Given the description of an element on the screen output the (x, y) to click on. 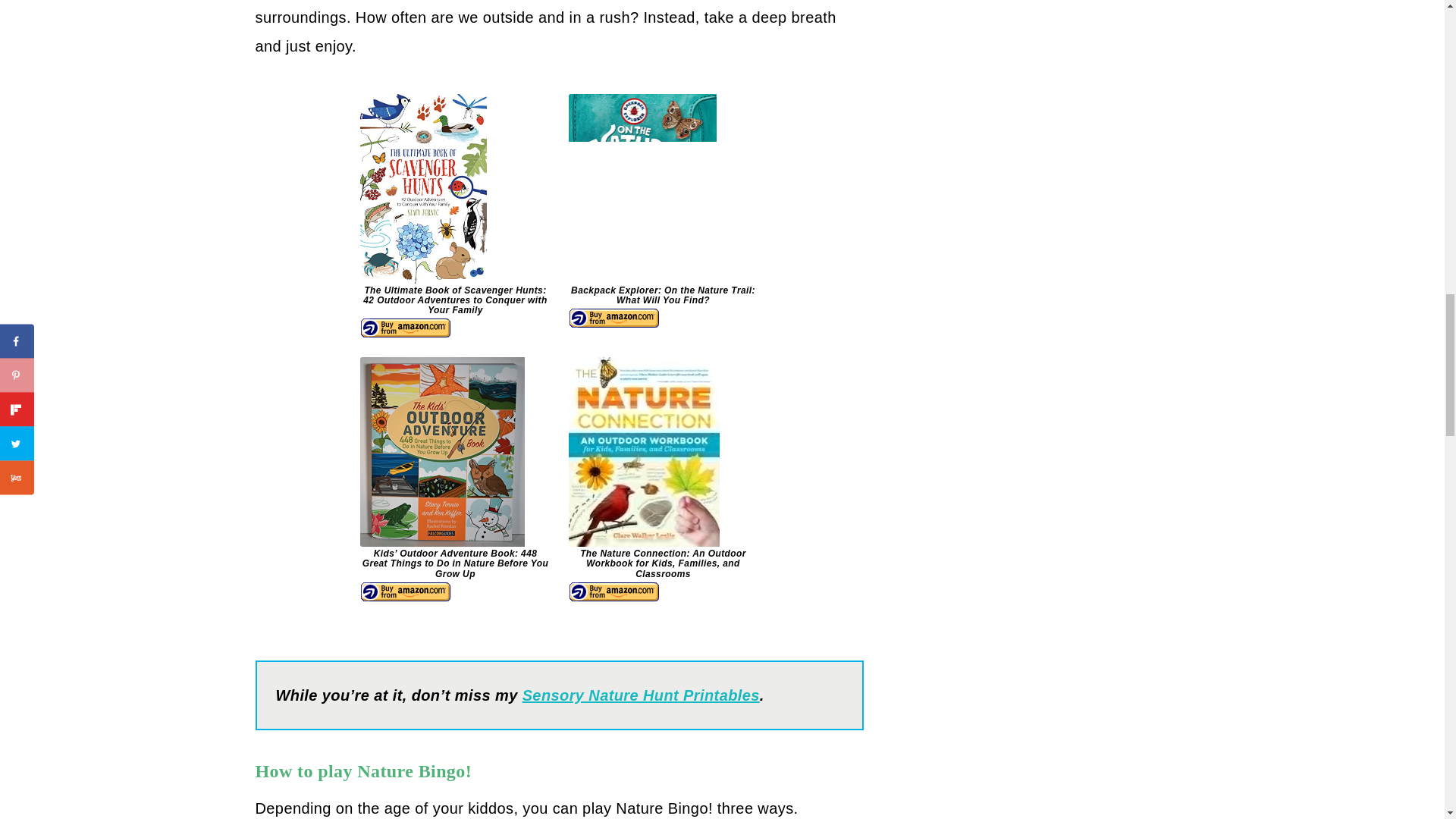
Backpack Explorer: On the Nature Trail: What Will You Find? (663, 211)
